Given the description of an element on the screen output the (x, y) to click on. 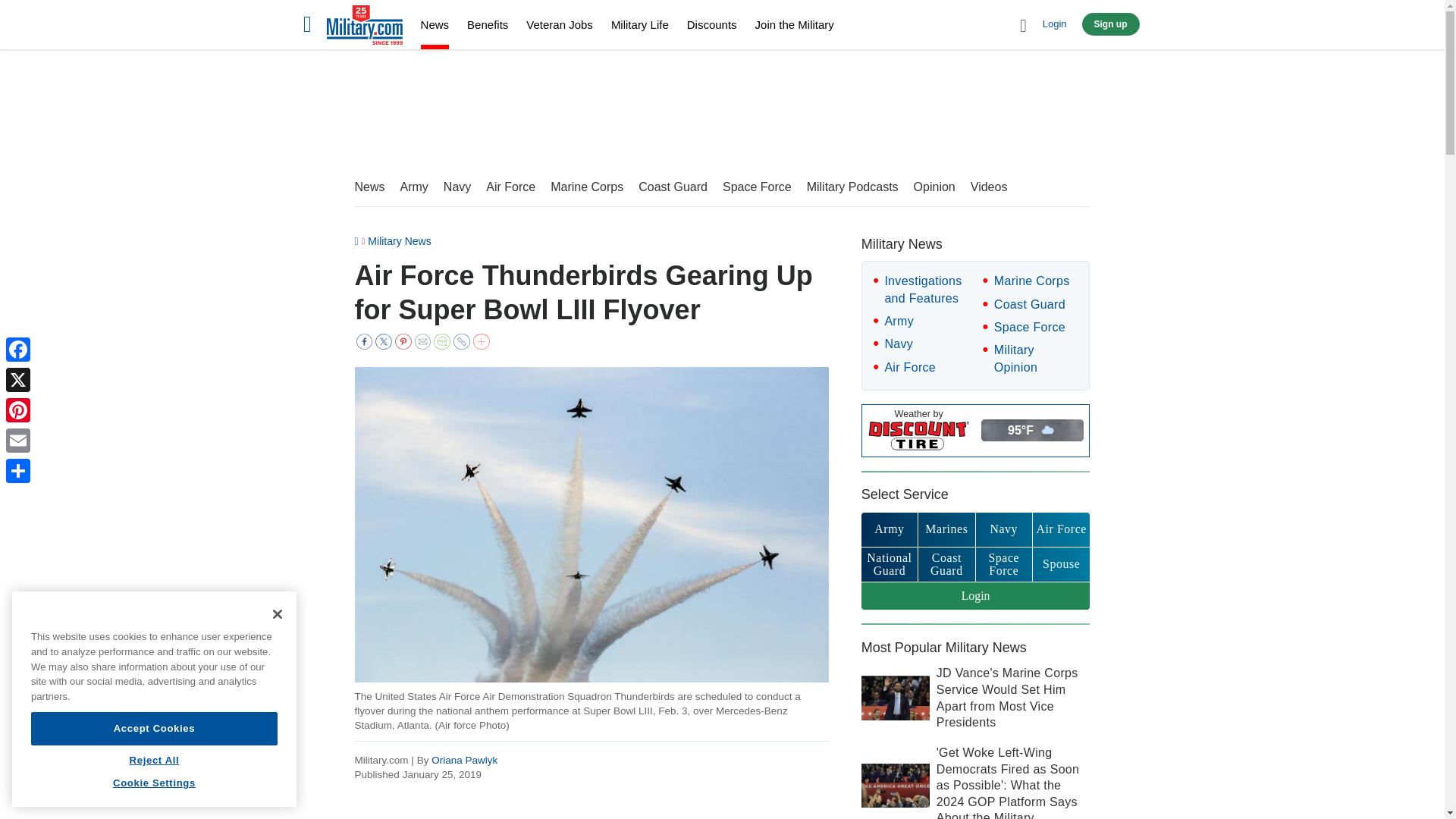
Benefits (487, 24)
Home (364, 27)
Veteran Jobs (558, 24)
Military Life (639, 24)
Trinity Audio Player (50, 768)
